Given the description of an element on the screen output the (x, y) to click on. 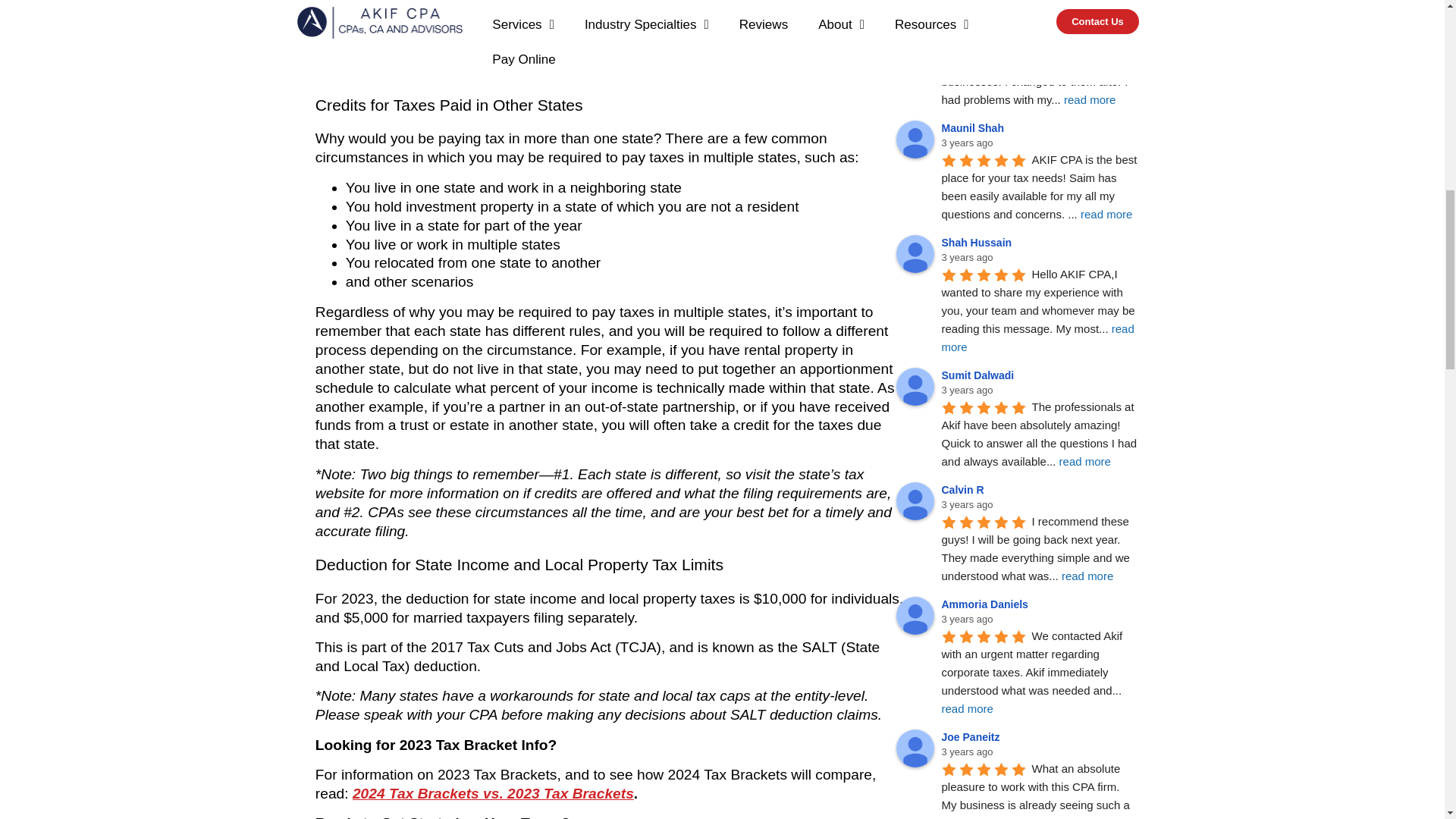
Kevan Shah (915, 24)
Ammoria Daniels (915, 615)
Joe Paneitz (915, 748)
Calvin R (915, 501)
Shah Hussain (915, 253)
Sumit Dalwadi (915, 386)
Maunil Shah (915, 139)
